Given the description of an element on the screen output the (x, y) to click on. 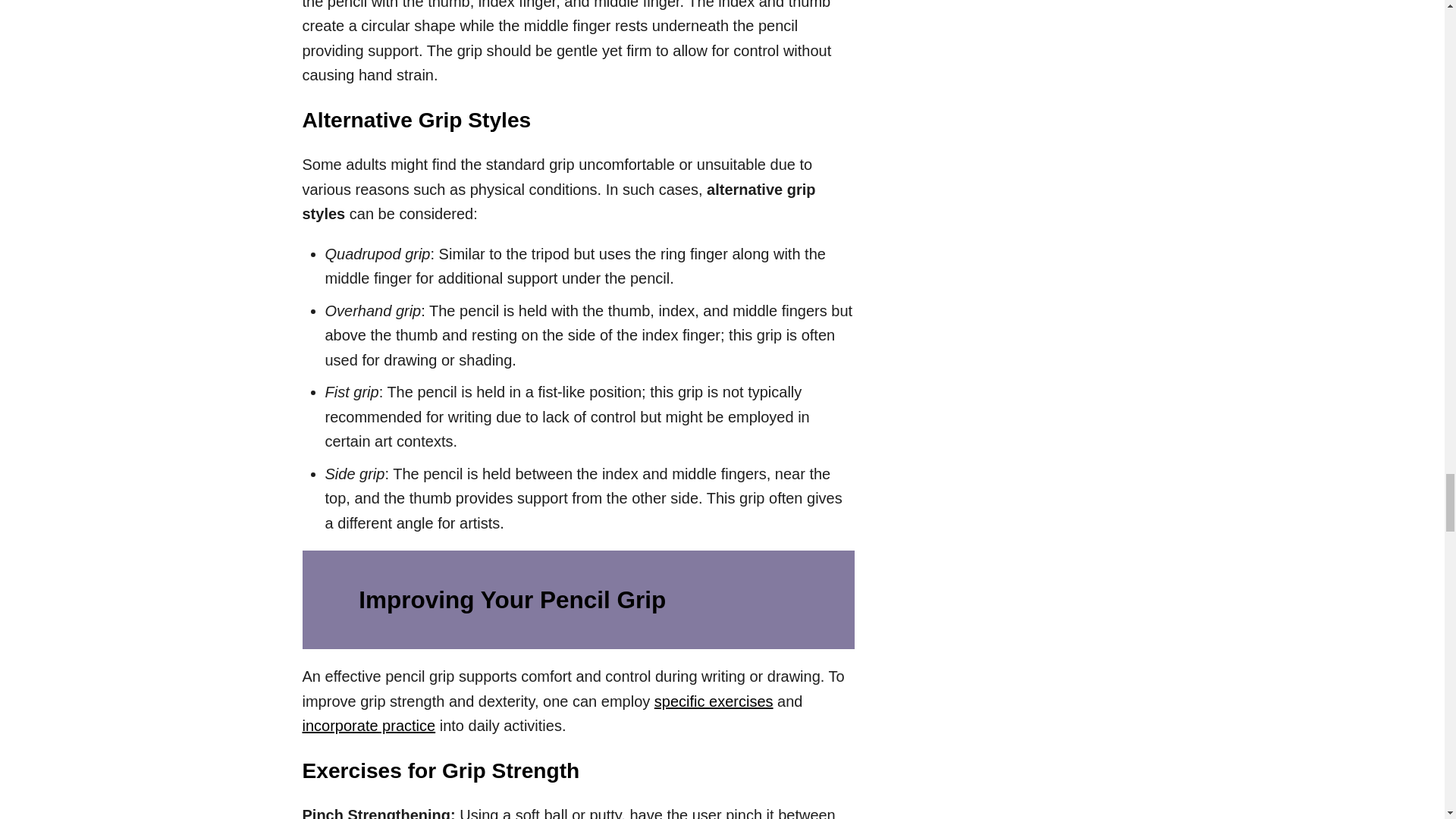
specific exercises (713, 701)
incorporate practice (368, 725)
